Given the description of an element on the screen output the (x, y) to click on. 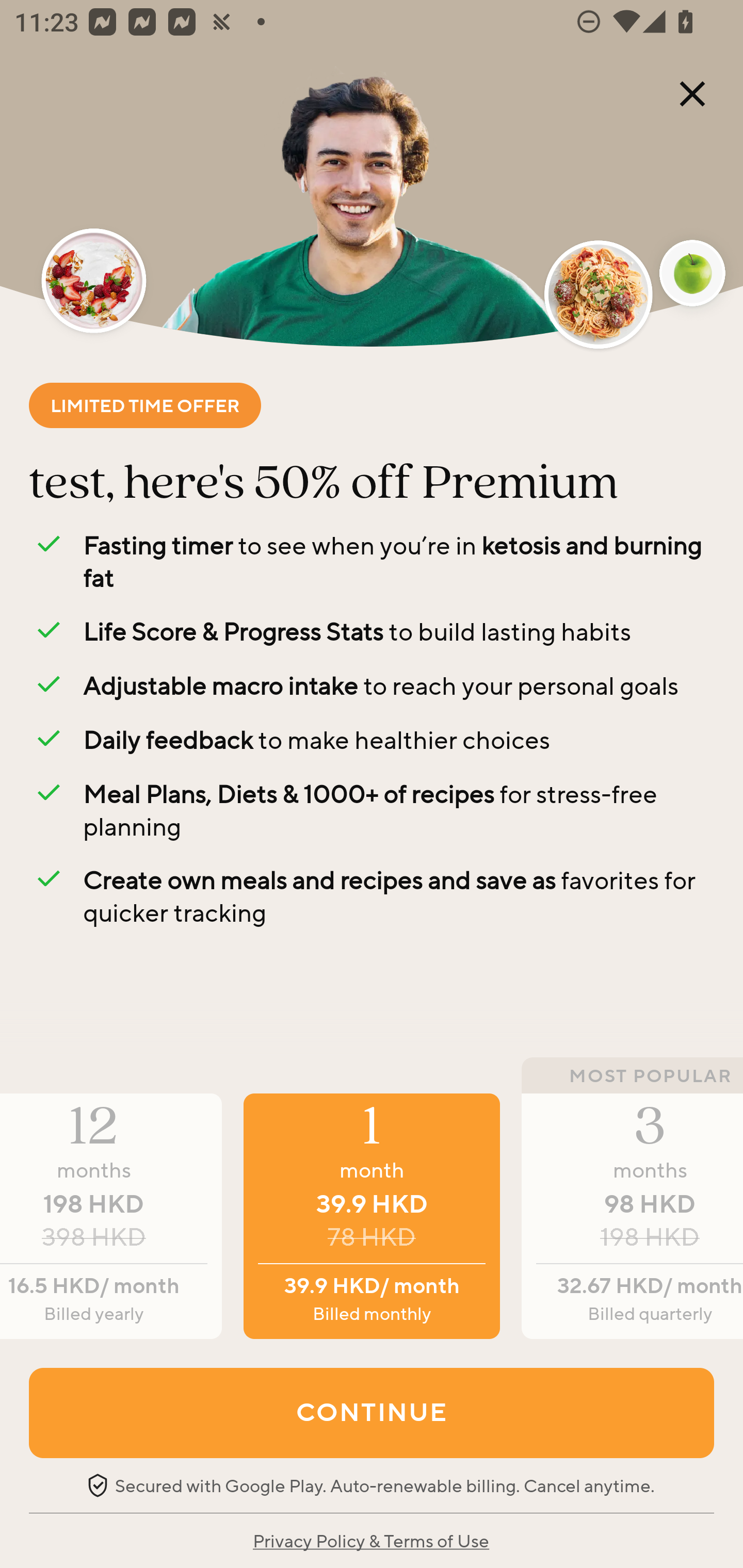
CONTINUE (371, 1412)
Privacy Policy & Terms of Use (370, 1540)
